Given the description of an element on the screen output the (x, y) to click on. 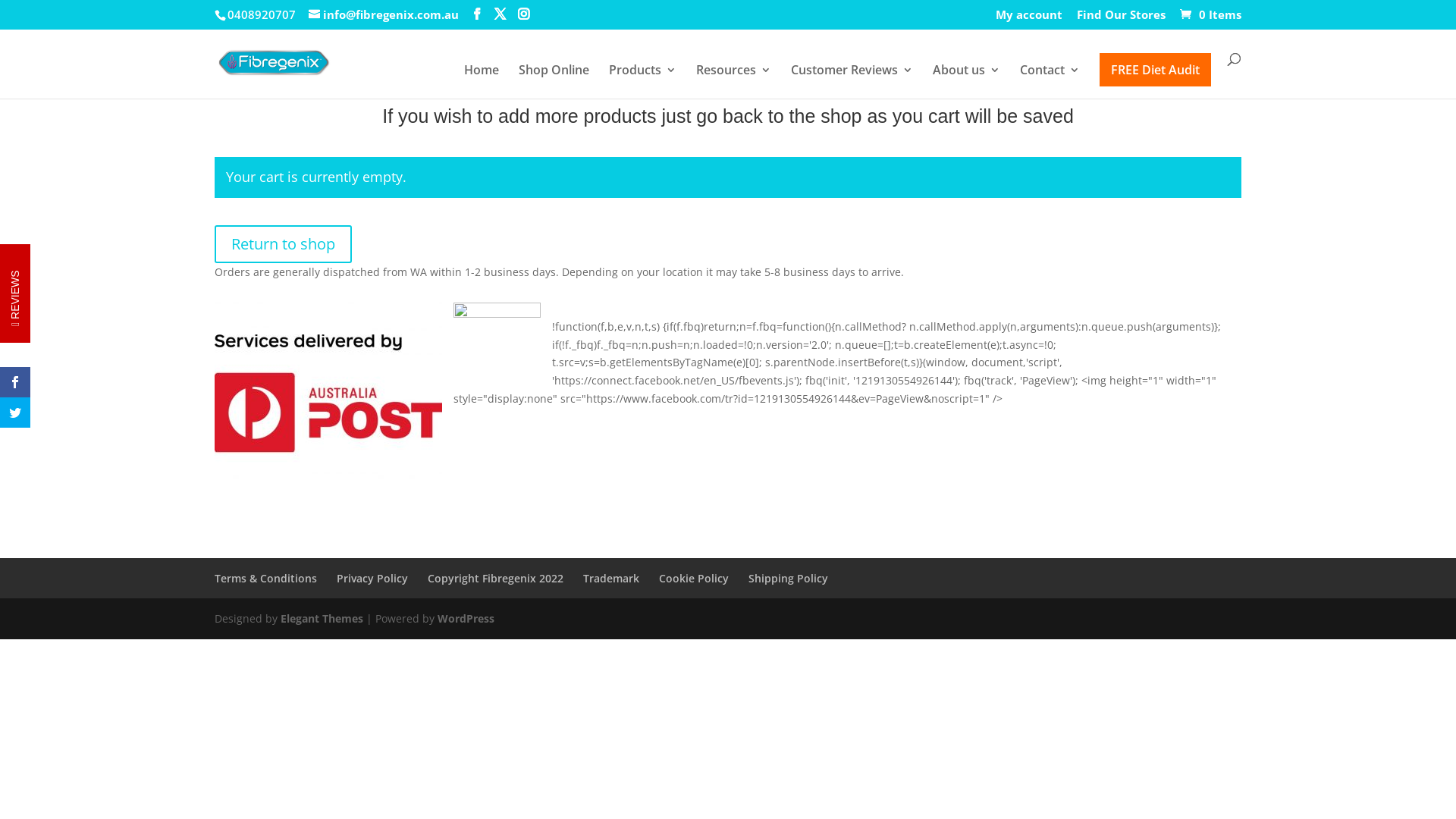
My account Element type: text (1028, 18)
Elegant Themes Element type: text (321, 618)
0 Items Element type: text (1208, 13)
Copyright Fibregenix 2022 Element type: text (495, 578)
Terms & Conditions Element type: text (265, 578)
Cookie Policy Element type: text (693, 578)
FREE Diet Audit Element type: text (1155, 69)
Find Our Stores Element type: text (1120, 18)
Resources Element type: text (733, 80)
Privacy Policy Element type: text (371, 578)
Home Element type: text (481, 80)
About us Element type: text (966, 80)
info@fibregenix.com.au Element type: text (383, 13)
Trademark Element type: text (611, 578)
Shop Online Element type: text (553, 80)
Return to shop Element type: text (282, 244)
Contact Element type: text (1049, 80)
Products Element type: text (642, 80)
WordPress Element type: text (465, 618)
Shipping Policy Element type: text (788, 578)
Customer Reviews Element type: text (851, 80)
